Given the description of an element on the screen output the (x, y) to click on. 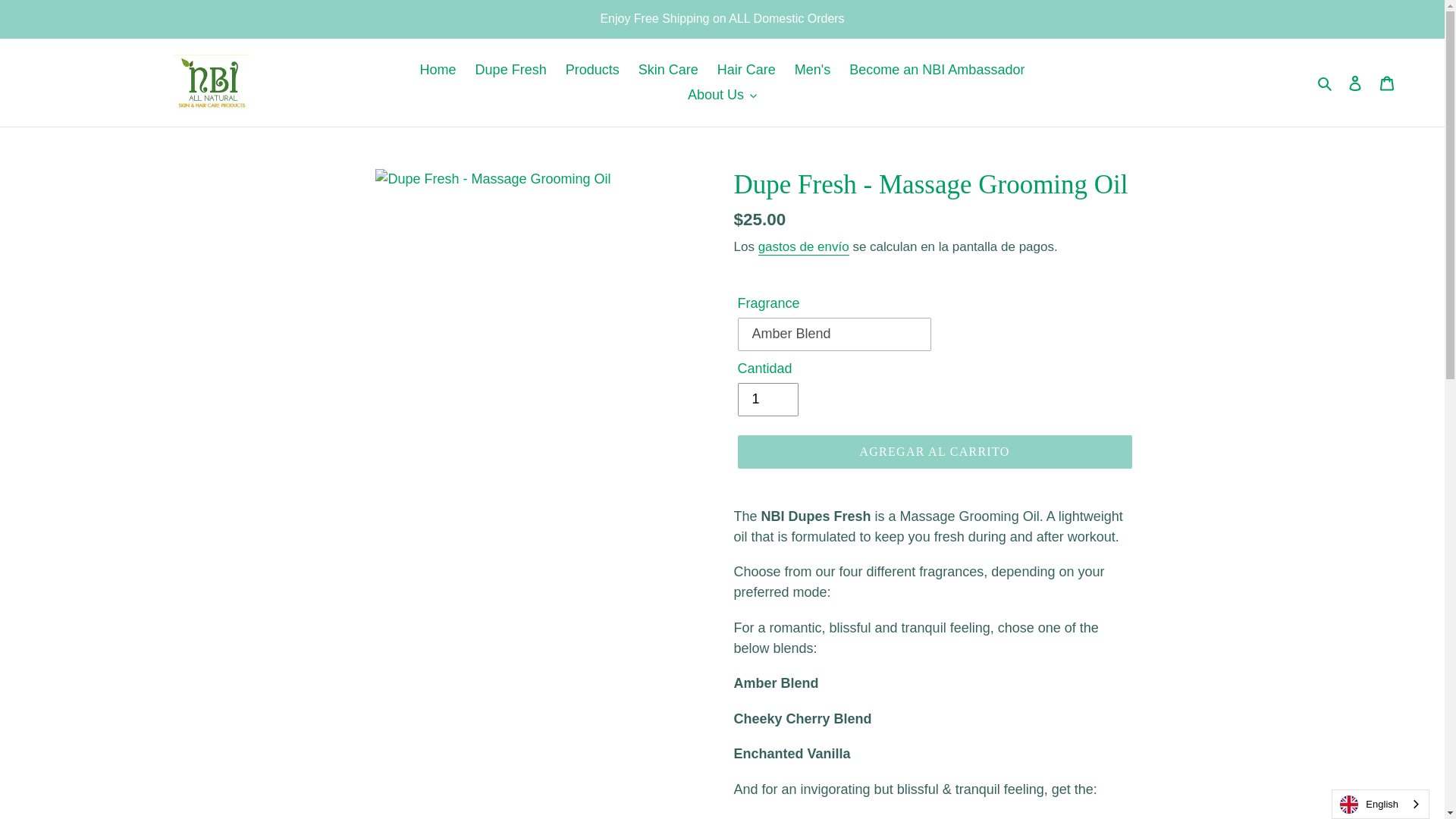
Carrito (1387, 82)
About Us (721, 94)
Dupe Fresh (510, 69)
Home (438, 69)
Men's (812, 69)
Buscar (1326, 82)
Hair Care (746, 69)
AGREGAR AL CARRITO (933, 451)
Ingresar (1355, 82)
Become an NBI Ambassador (936, 69)
1 (766, 399)
Skin Care (668, 69)
Products (592, 69)
